Given the description of an element on the screen output the (x, y) to click on. 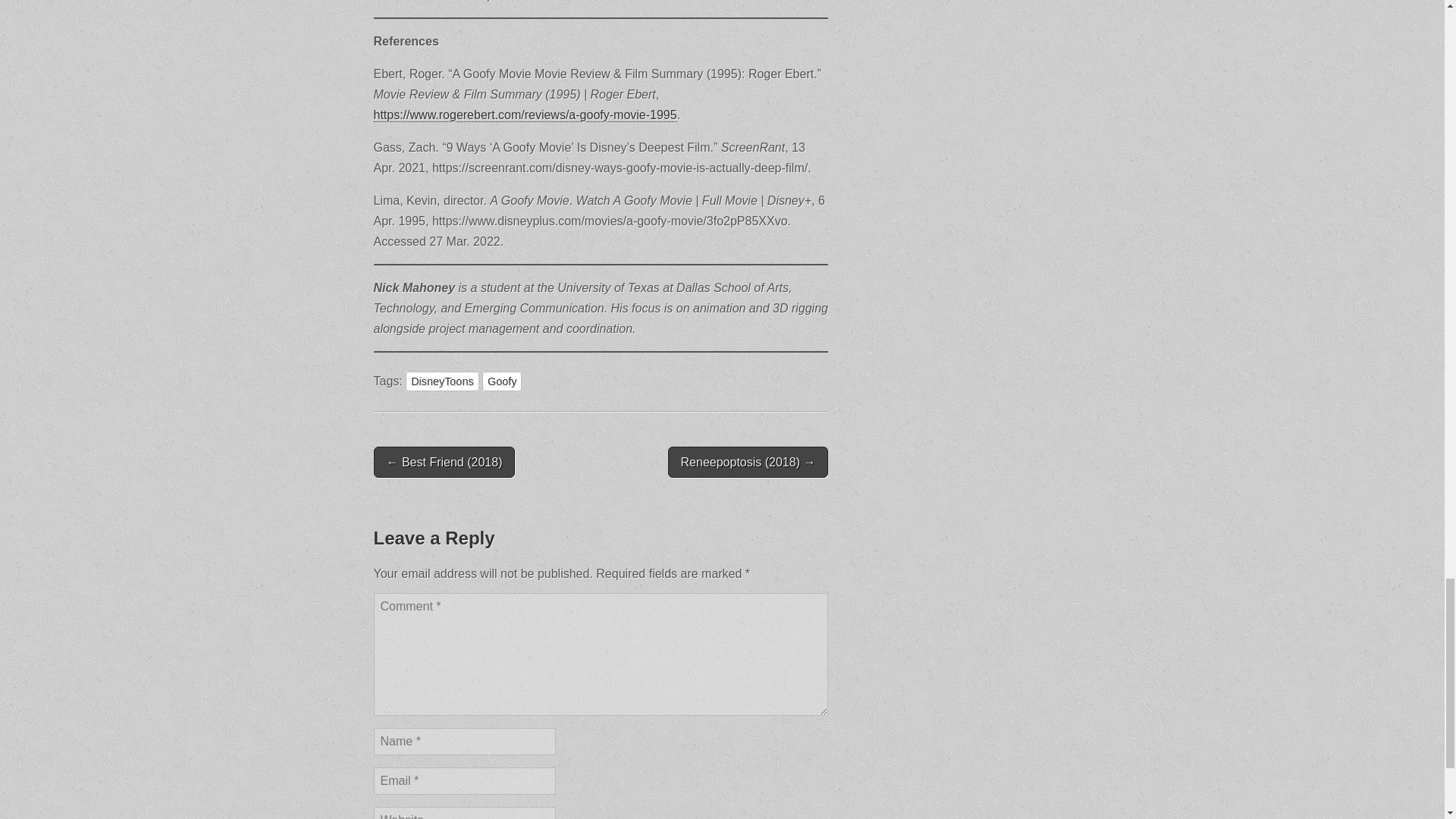
DisneyToons (442, 381)
Goofy (501, 381)
